Given the description of an element on the screen output the (x, y) to click on. 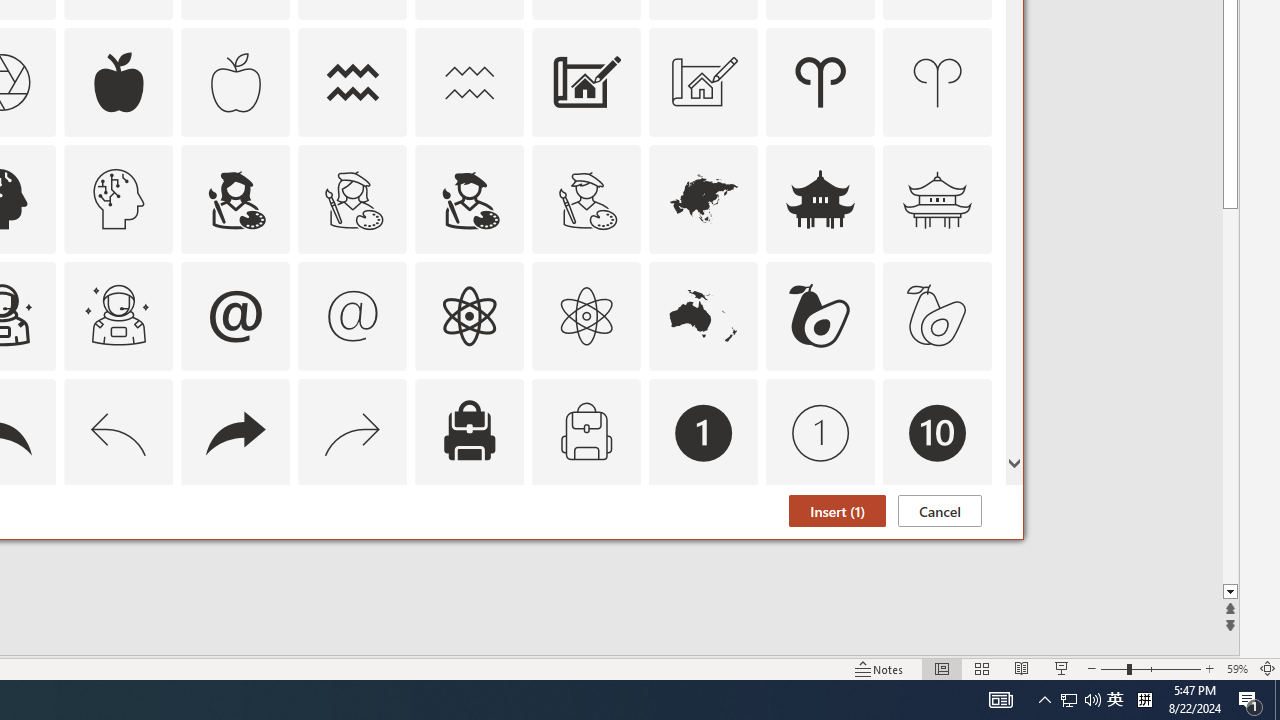
AutomationID: Icons_ArtificialIntelligence_M (118, 198)
AutomationID: Icons_AsianTemple (820, 198)
AutomationID: Icons_Apple_M (235, 82)
